Given the description of an element on the screen output the (x, y) to click on. 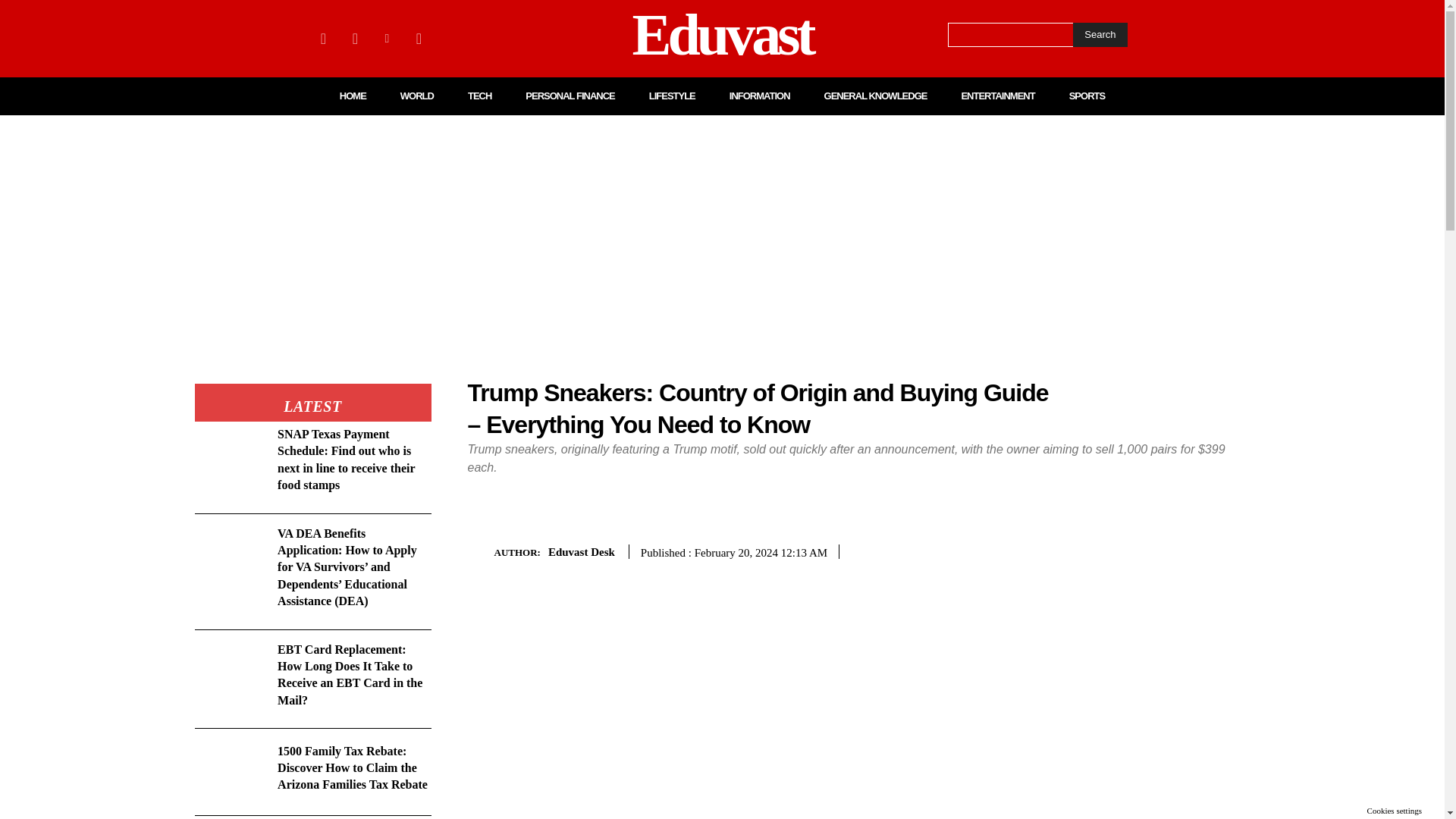
Eduvast (722, 38)
ENTERTAINMENT (996, 95)
PERSONAL FINANCE (569, 95)
Facebook (322, 38)
Instagram (354, 38)
GENERAL KNOWLEDGE (875, 95)
